Given the description of an element on the screen output the (x, y) to click on. 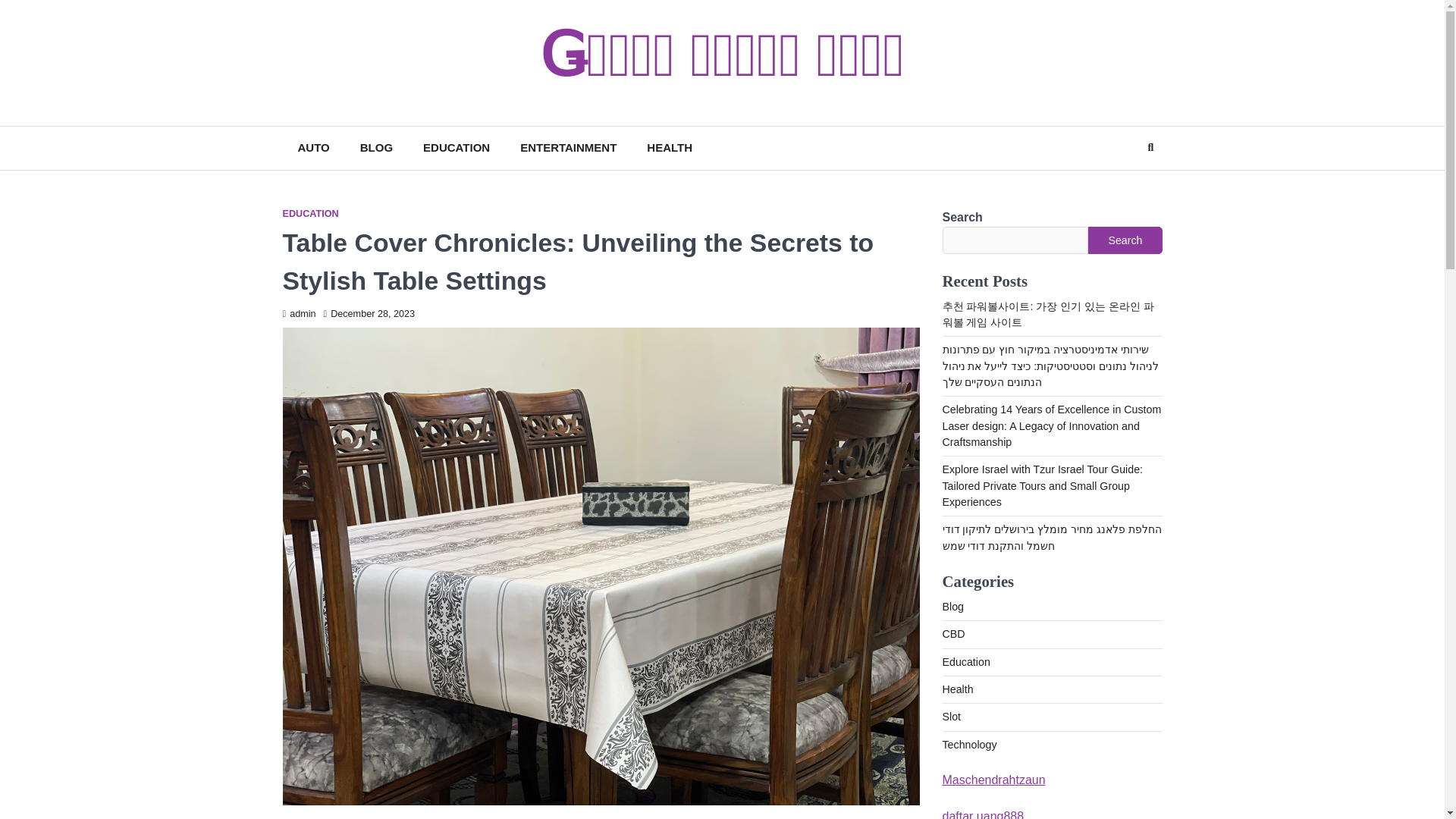
ENTERTAINMENT (568, 147)
Technology (968, 744)
Slot (951, 716)
Search (1122, 185)
Maschendrahtzaun (993, 779)
EDUCATION (456, 147)
daftar uang888 (982, 814)
BLOG (376, 147)
December 28, 2023 (368, 313)
Search (1124, 239)
Blog (952, 606)
HEALTH (669, 147)
admin (298, 313)
Health (957, 689)
